Given the description of an element on the screen output the (x, y) to click on. 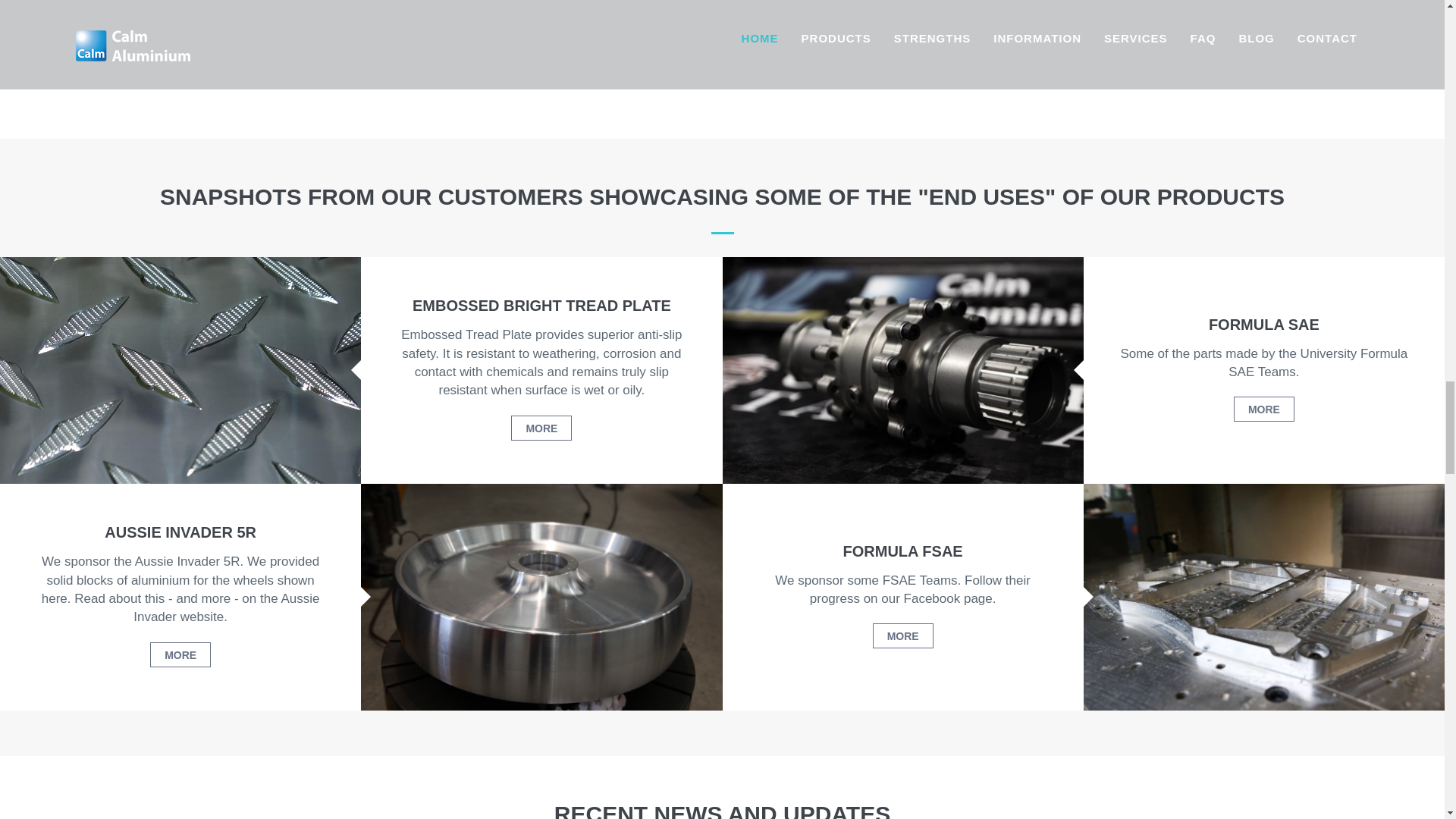
MORE (902, 635)
MORE (180, 654)
MORE (1263, 408)
MORE (541, 427)
